Given the description of an element on the screen output the (x, y) to click on. 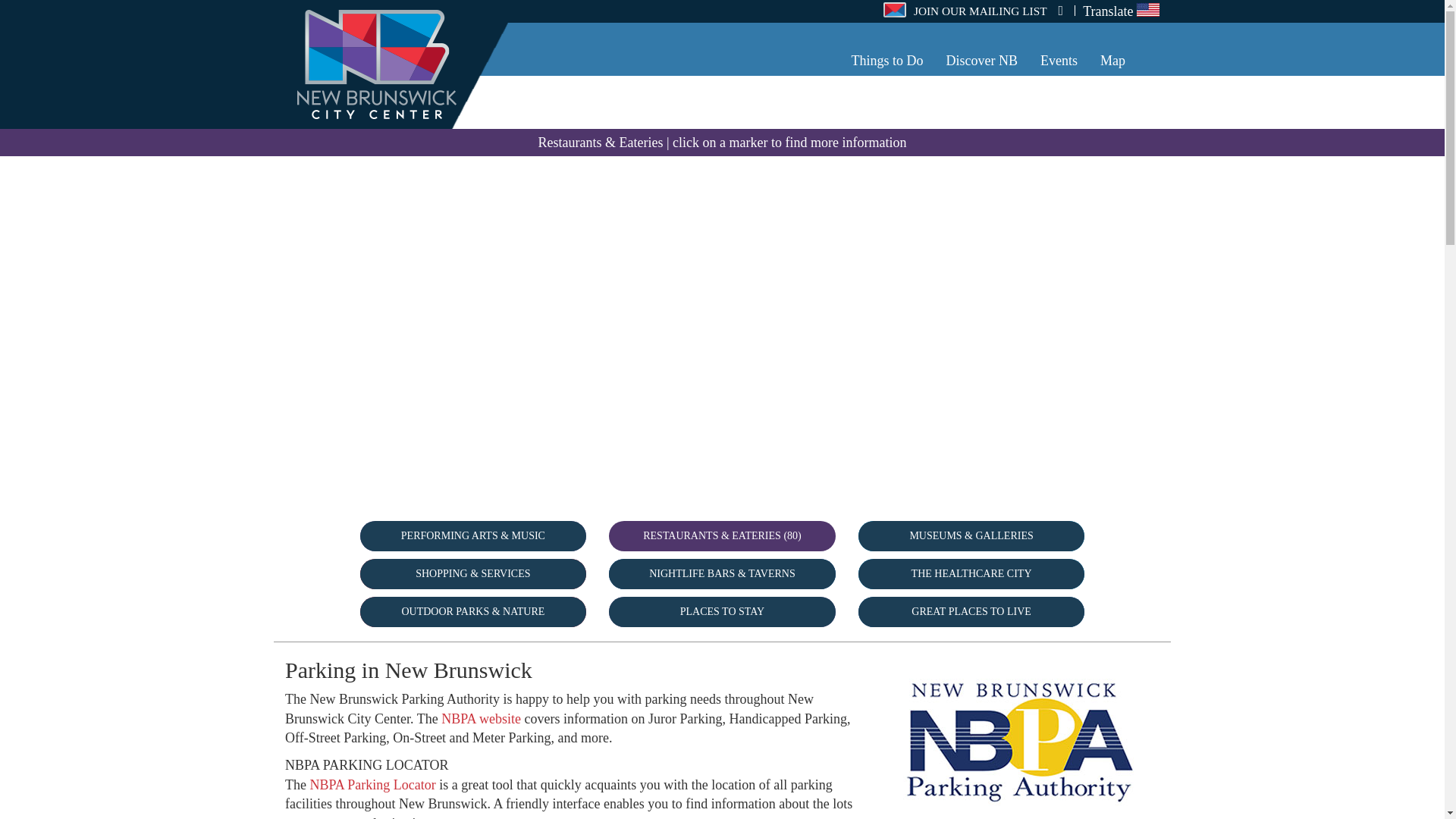
GREAT PLACES TO LIVE (971, 612)
JOIN OUR MAILING LIST (972, 11)
Discover NB (981, 60)
PLACES TO STAY (721, 612)
Events (1059, 60)
Things to Do (887, 60)
Map (1113, 60)
THE HEALTHCARE CITY (971, 573)
